Given the description of an element on the screen output the (x, y) to click on. 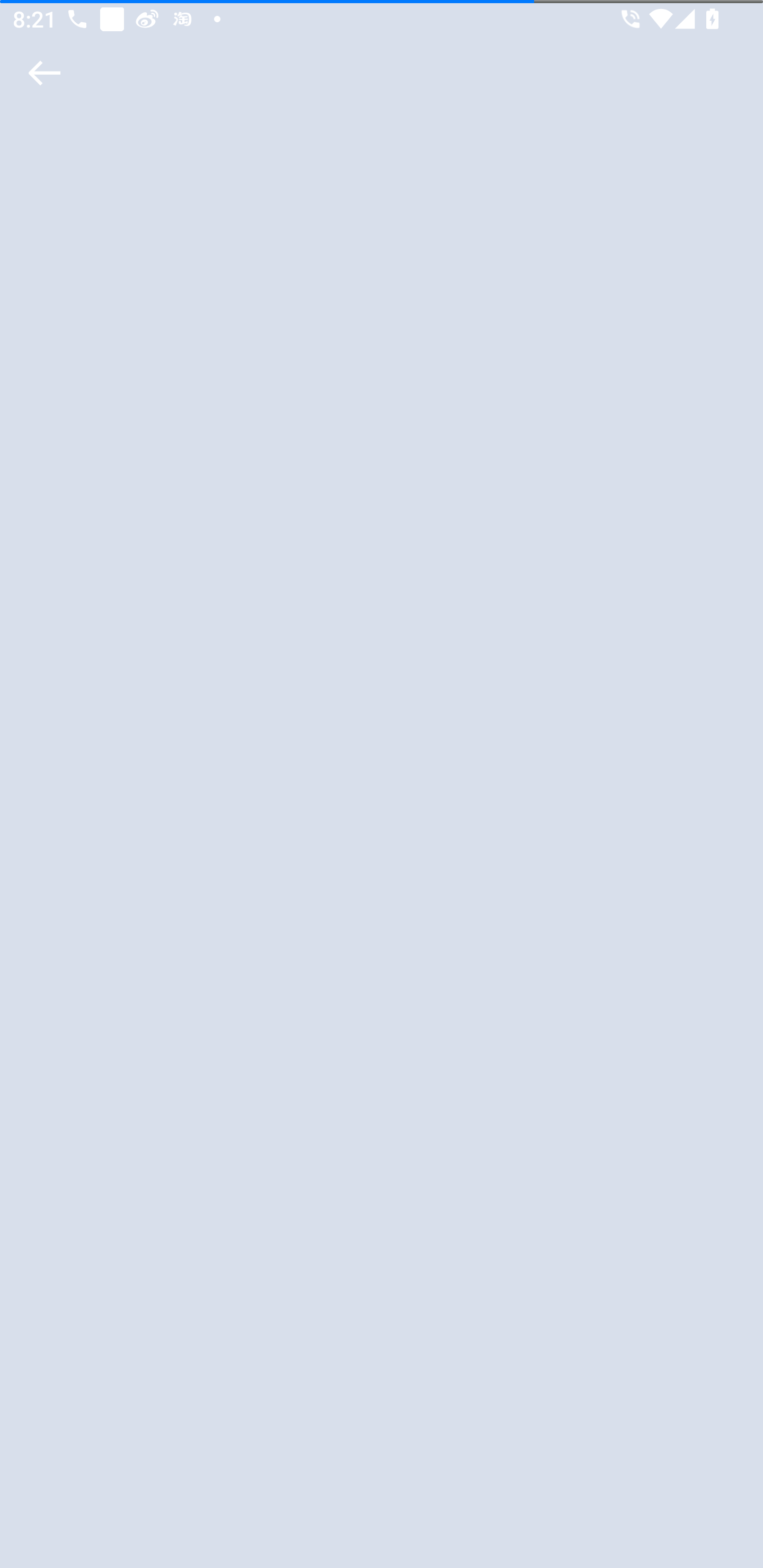
 (41, 72)
